Given the description of an element on the screen output the (x, y) to click on. 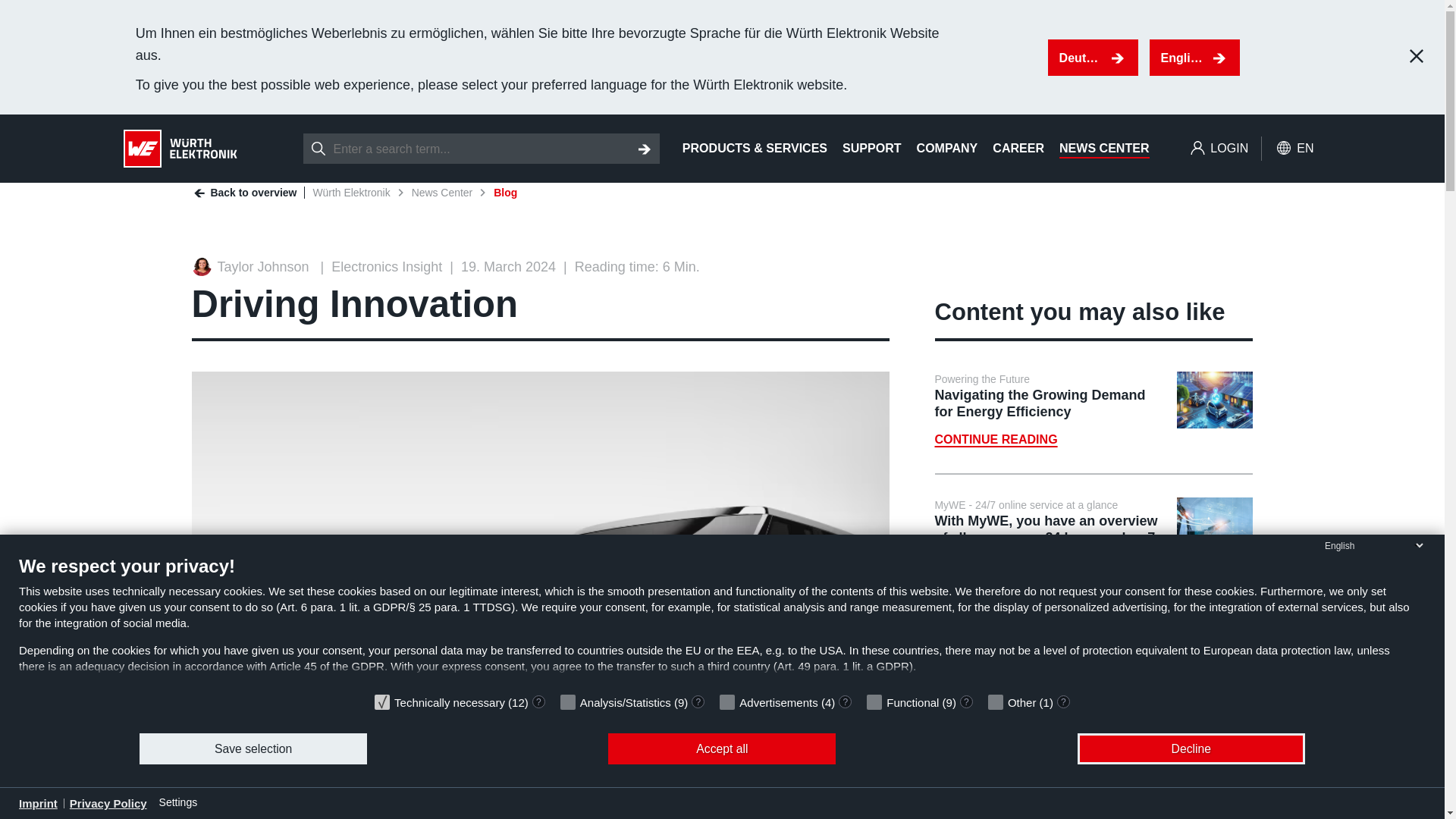
English (1195, 57)
News Center (442, 192)
SUPPORT (872, 148)
Details (697, 701)
Deutsch (1093, 57)
Details (965, 701)
EN (1293, 148)
COMPANY (947, 148)
Back to overview (251, 192)
Blog (504, 192)
Details (1063, 701)
Details (844, 701)
LOGIN (1217, 148)
